Given the description of an element on the screen output the (x, y) to click on. 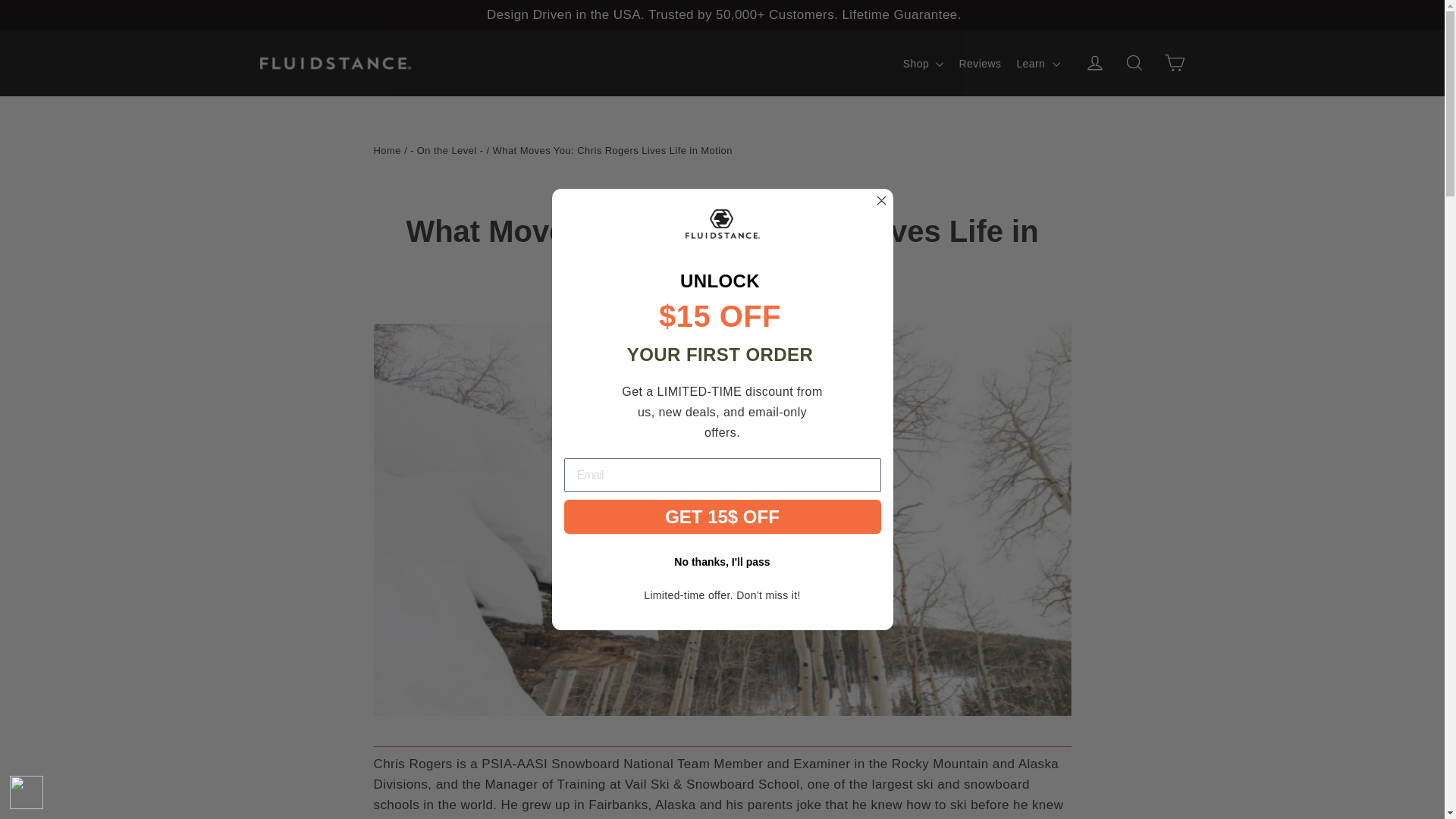
Community (1095, 63)
Skip to content (614, 196)
Reviews (386, 150)
Back to the frontpage (979, 63)
- On the Level - (386, 150)
icon-cart (1173, 63)
icon-search (446, 150)
account (1174, 62)
